Given the description of an element on the screen output the (x, y) to click on. 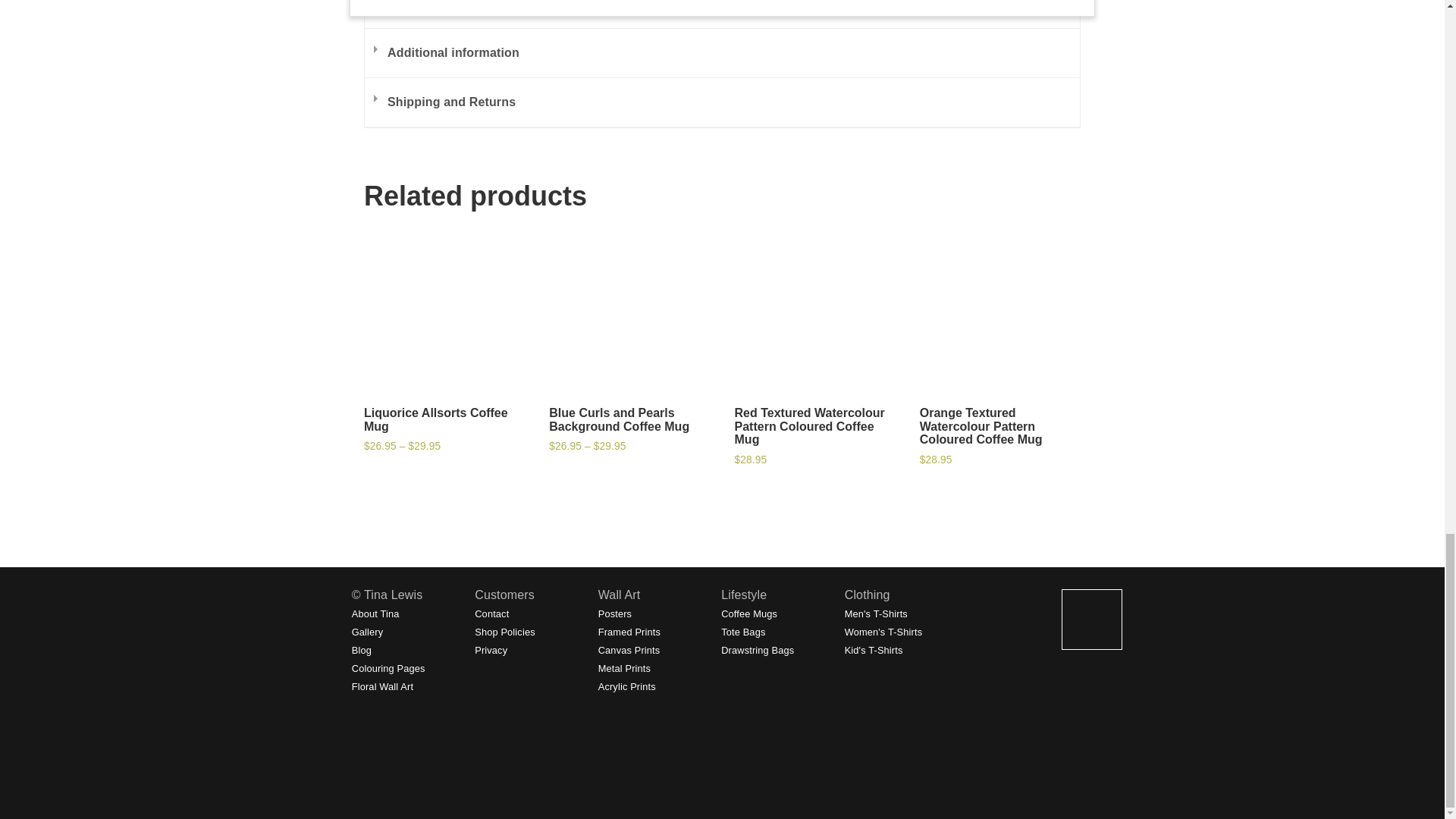
Floral Wall Art (382, 686)
Gallery (368, 632)
Blog (361, 650)
Colouring Pages (388, 668)
Contact (491, 613)
About Tina (375, 613)
